Given the description of an element on the screen output the (x, y) to click on. 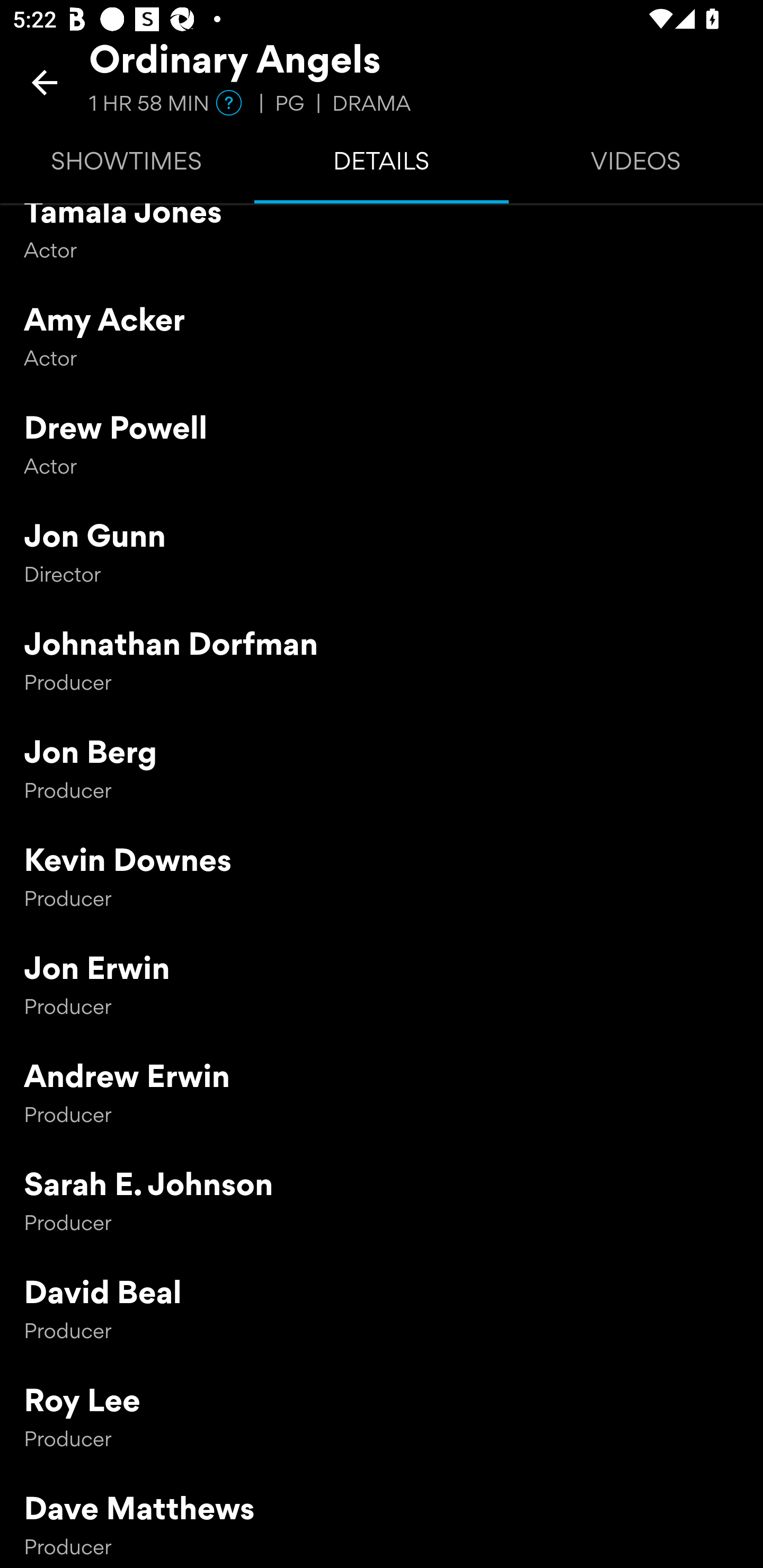
Back (44, 82)
SHOWTIMES
Tab 1 of 3 (127, 165)
DETAILS
Tab 2 of 3 (381, 165)
VIDEOS
Tab 3 of 3 (635, 165)
